Given the description of an element on the screen output the (x, y) to click on. 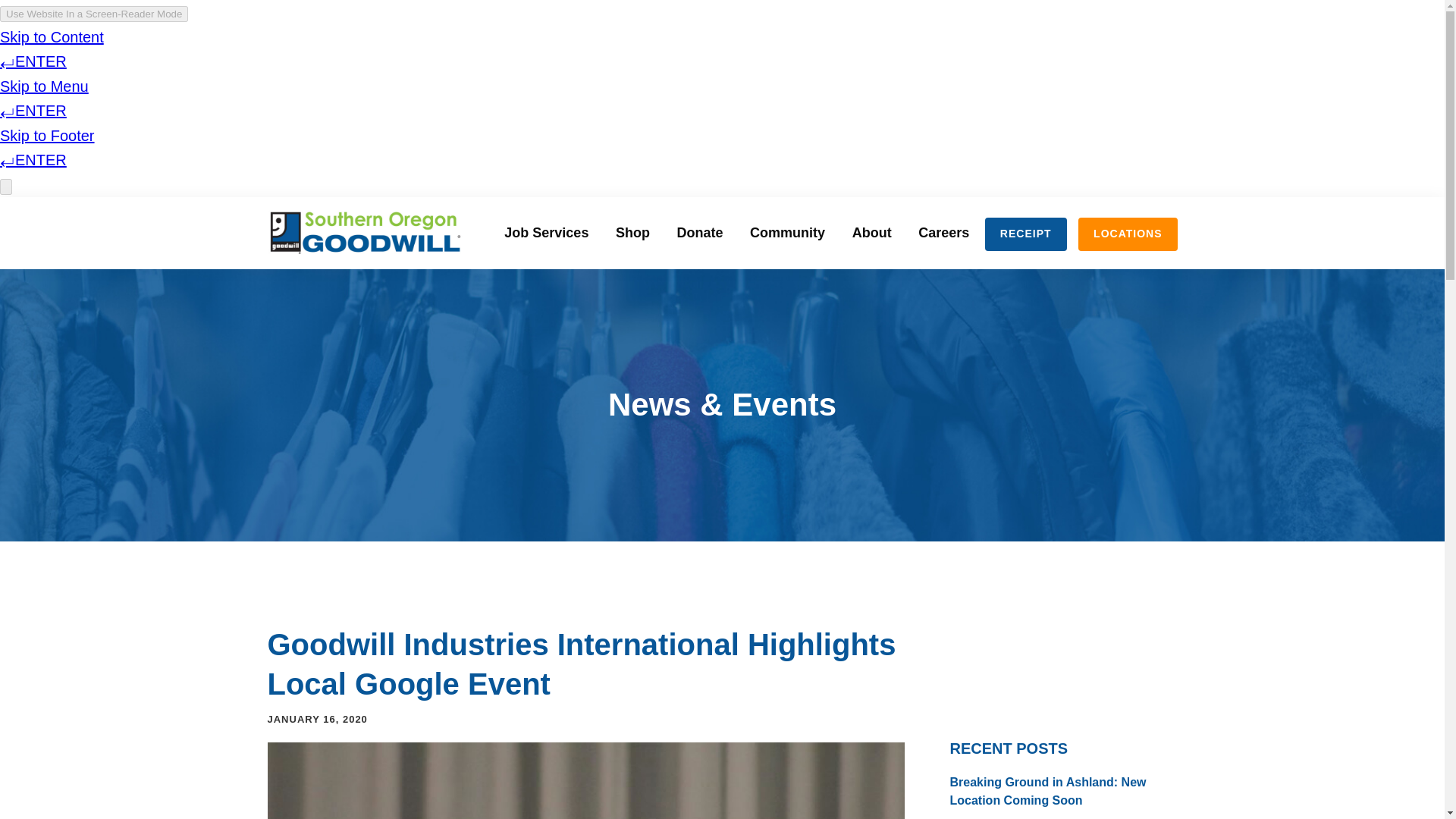
About (871, 232)
LOCATIONS (1127, 233)
Donate (700, 232)
Shop (632, 232)
Careers (943, 232)
Community (786, 232)
RECEIPT (1026, 233)
Job Services (546, 232)
